Given the description of an element on the screen output the (x, y) to click on. 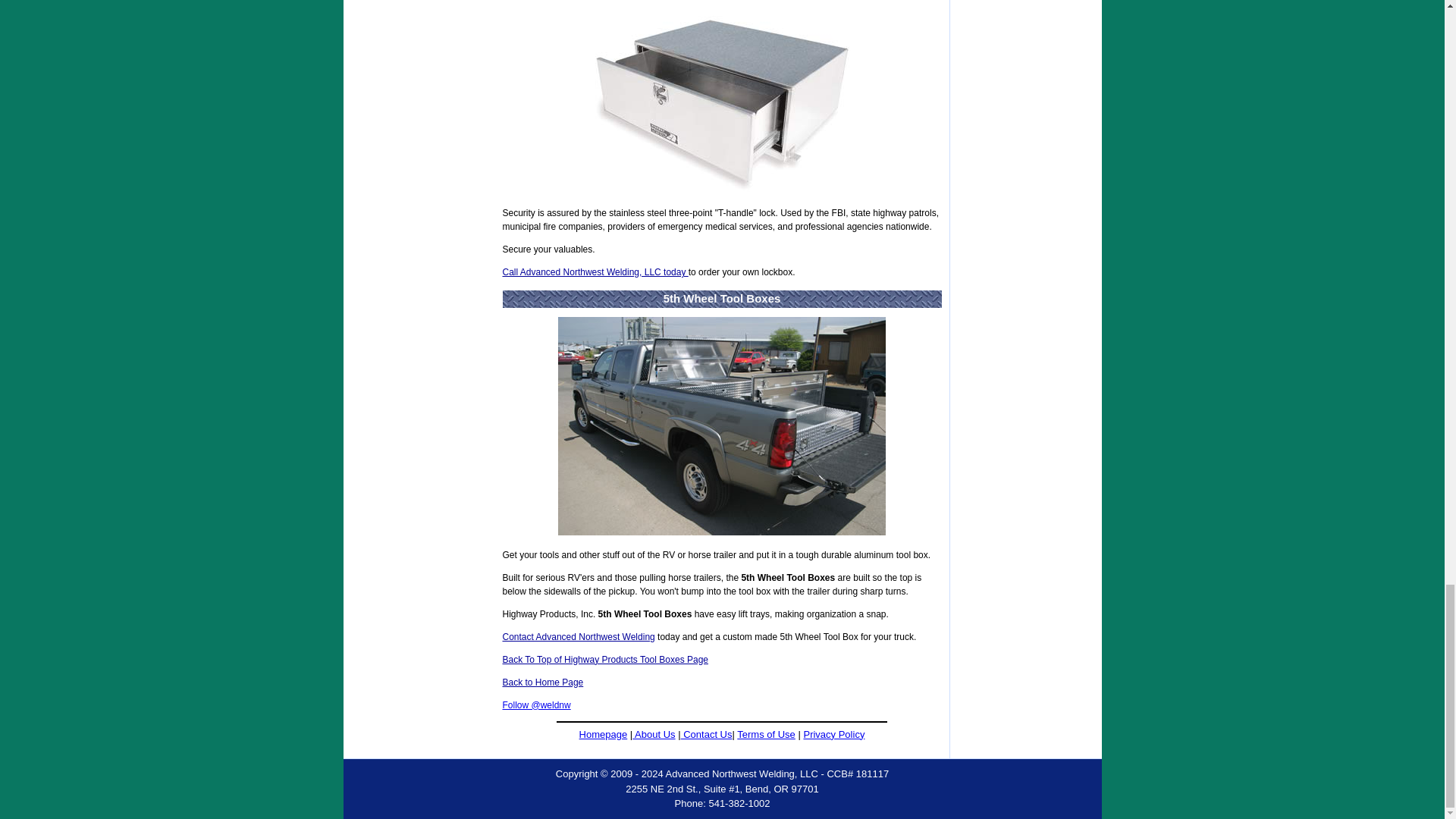
Back To Top of Highway Products Tool Boxes Page (604, 658)
Back to Home Page (542, 681)
Contact Advanced Northwest Welding (577, 635)
Terms of Use (765, 733)
Call Advanced Northwest Welding, LLC today  (594, 271)
Privacy Policy (833, 733)
About Us (653, 733)
Contact Us (706, 733)
Homepage (603, 733)
